Given the description of an element on the screen output the (x, y) to click on. 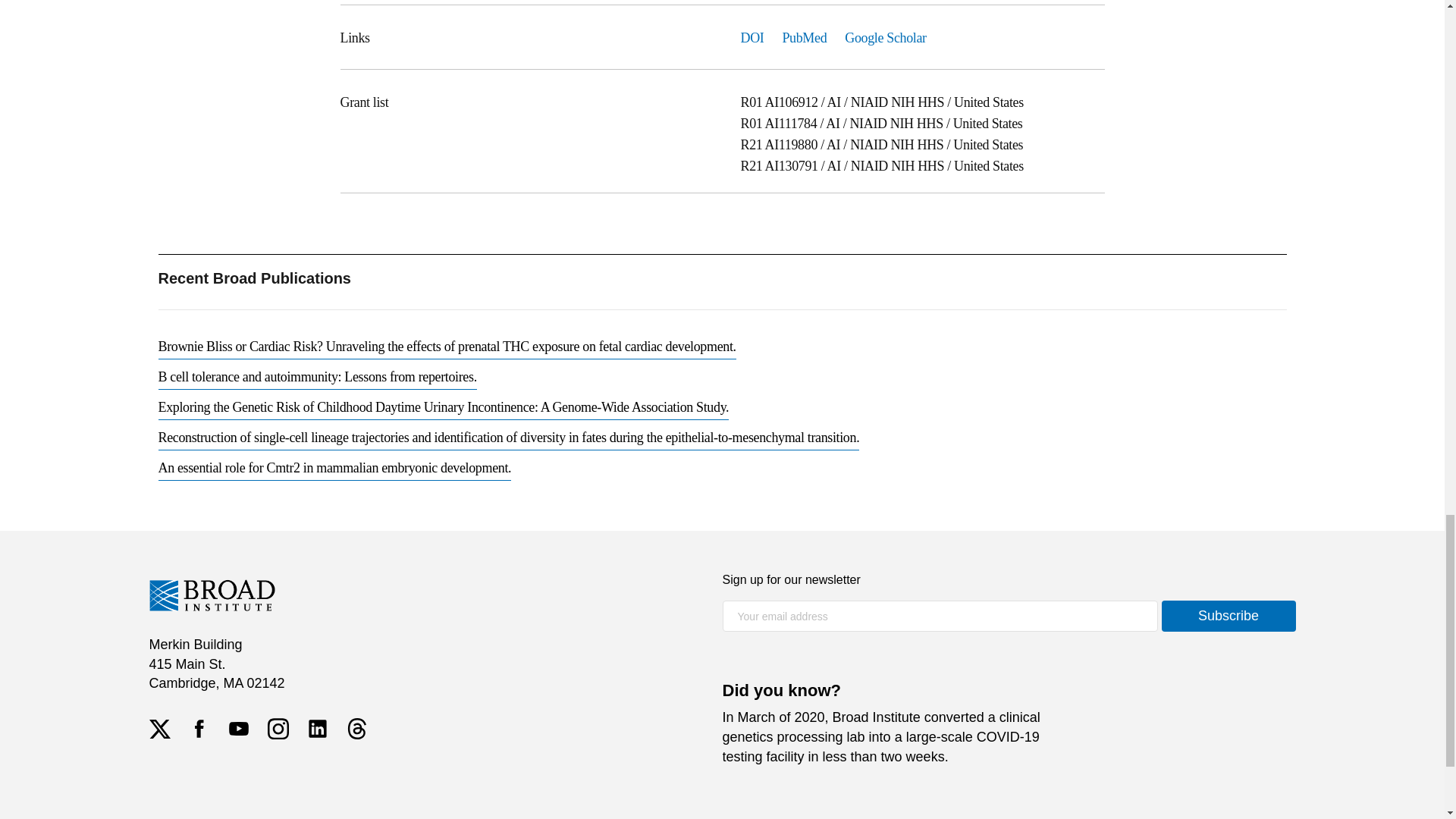
Subscribe (1228, 615)
